Given the description of an element on the screen output the (x, y) to click on. 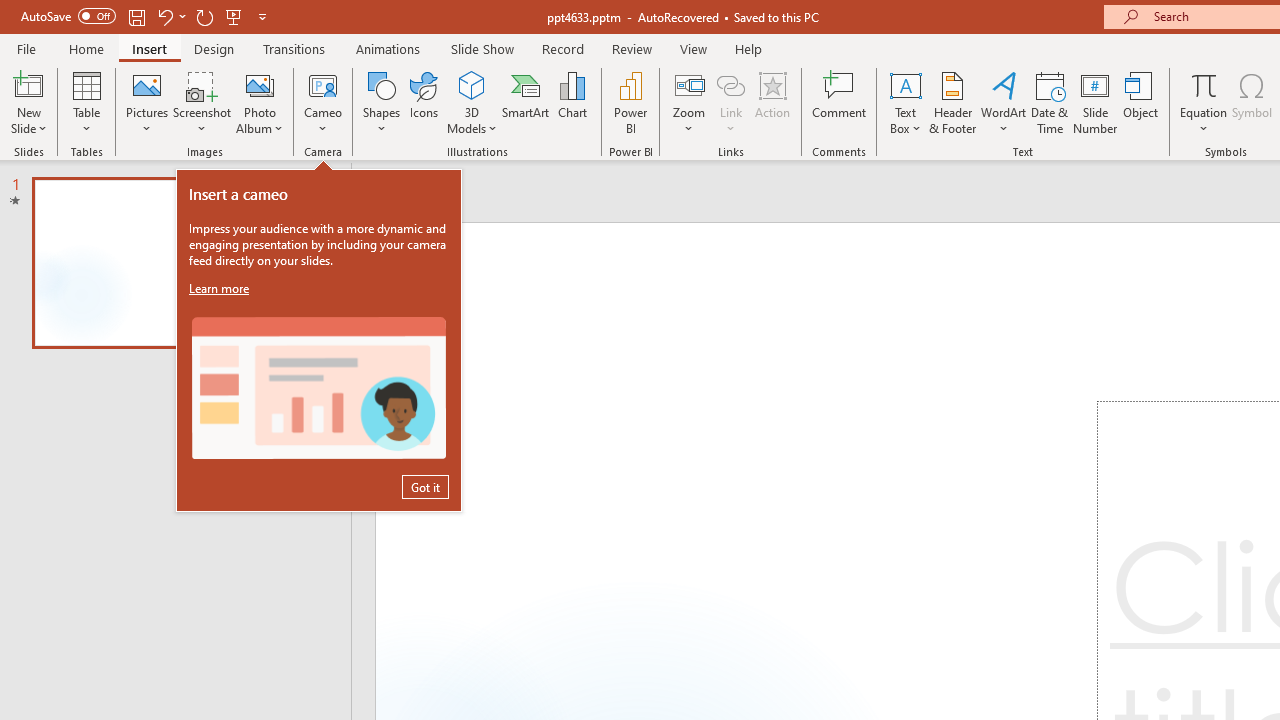
Learn more (221, 288)
Comment (839, 102)
Date & Time... (1050, 102)
Object... (1141, 102)
Chart... (572, 102)
Got it (425, 486)
Header & Footer... (952, 102)
